Given the description of an element on the screen output the (x, y) to click on. 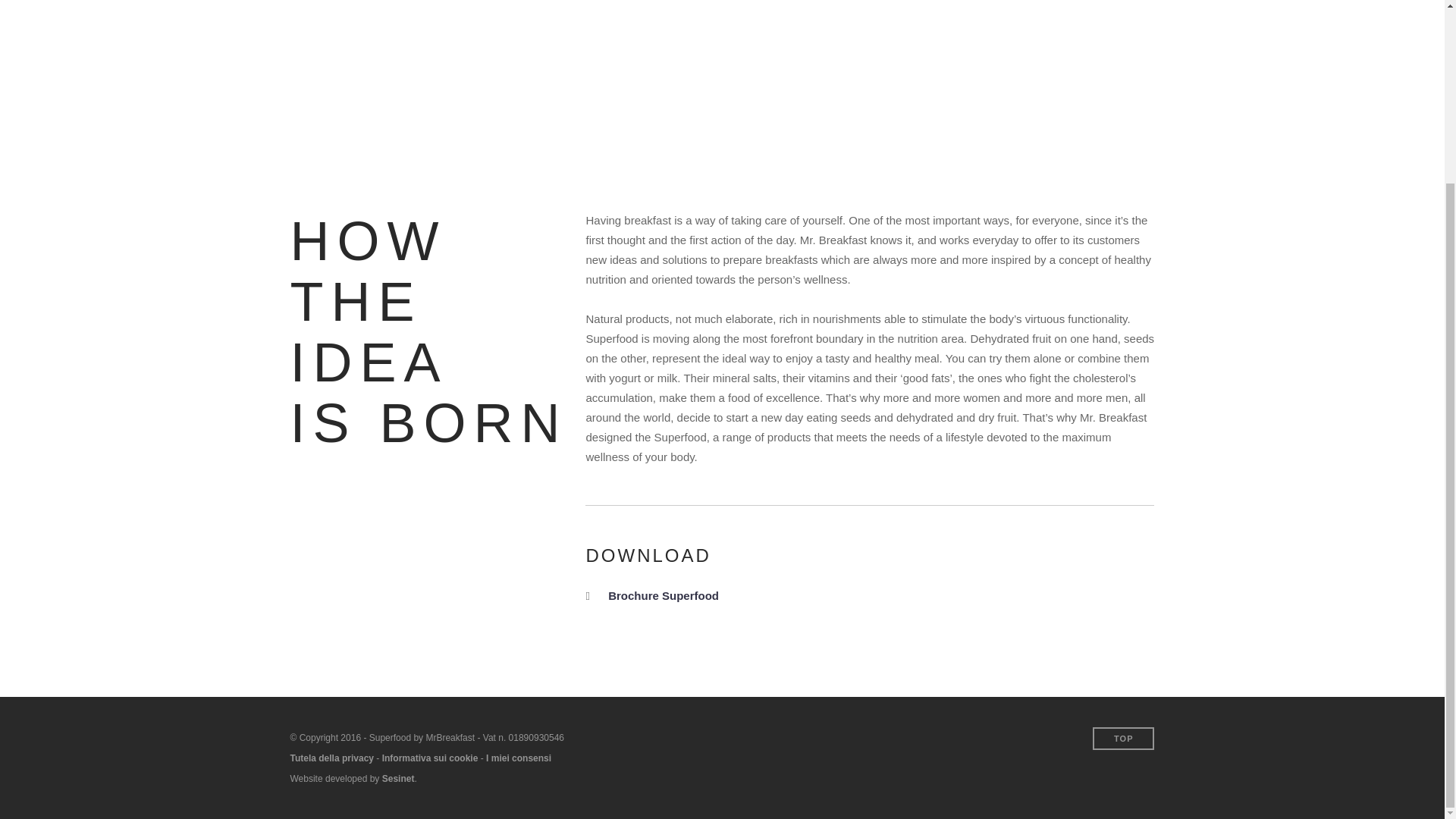
Brochure Superfood (663, 594)
Sesinet (397, 778)
Informativa sui cookie (430, 757)
I miei consensi (518, 757)
Tutela della privacy (331, 757)
TOP (1123, 738)
